Given the description of an element on the screen output the (x, y) to click on. 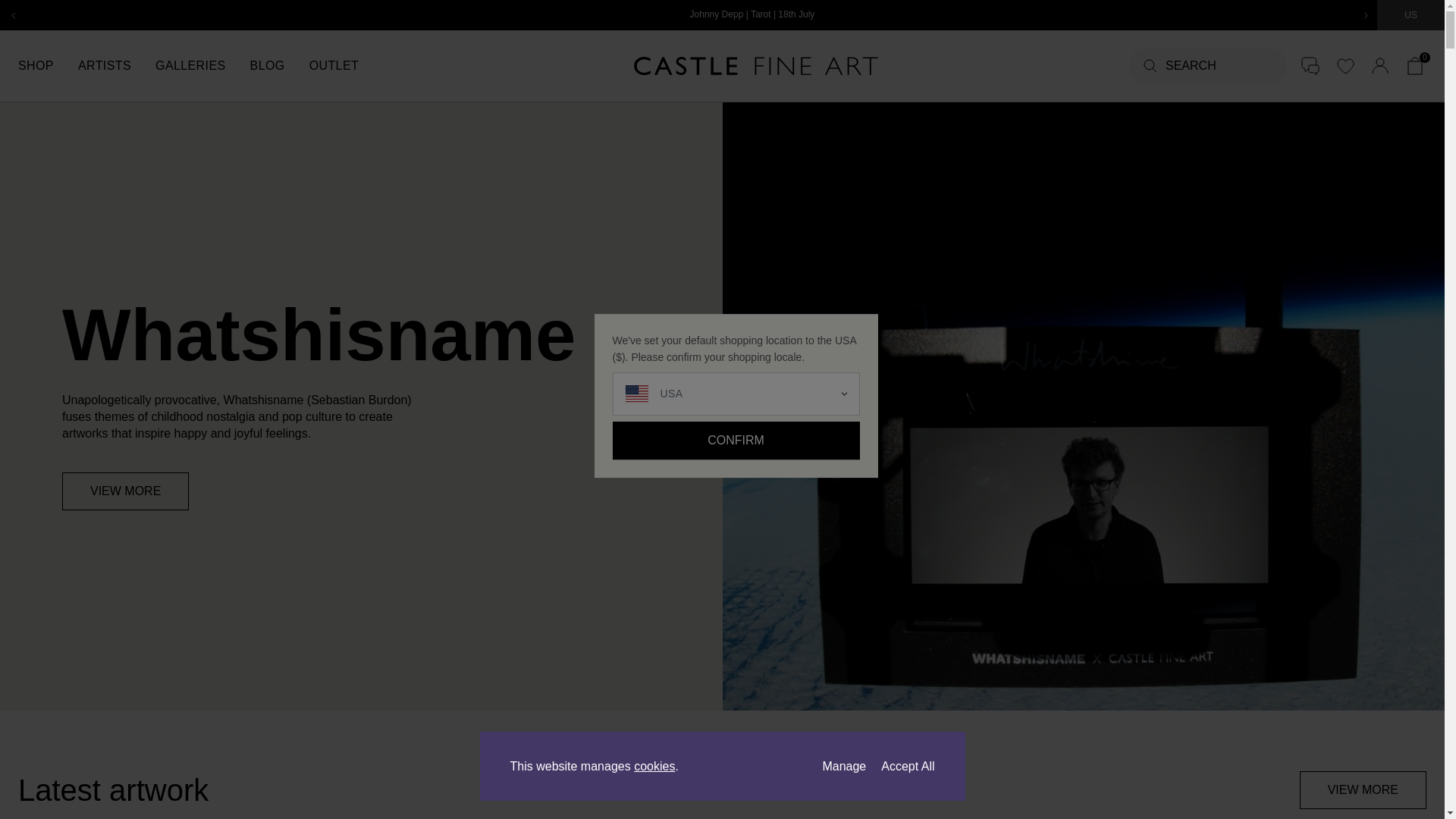
GALLERIES (202, 65)
0 (1414, 65)
SHOP (47, 65)
ARTISTS (116, 65)
BLOG (279, 65)
OUTLET (346, 65)
